Given the description of an element on the screen output the (x, y) to click on. 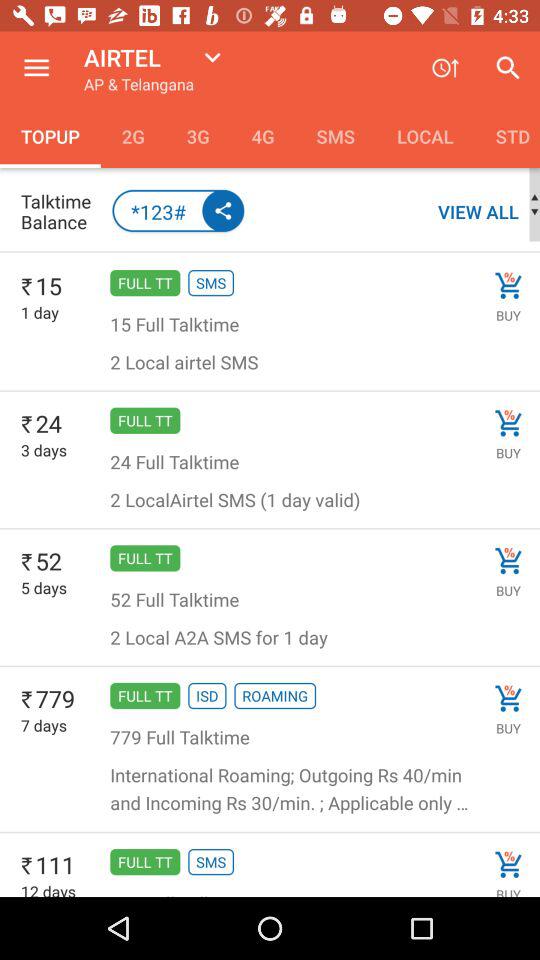
flip until 12 days item (48, 888)
